Given the description of an element on the screen output the (x, y) to click on. 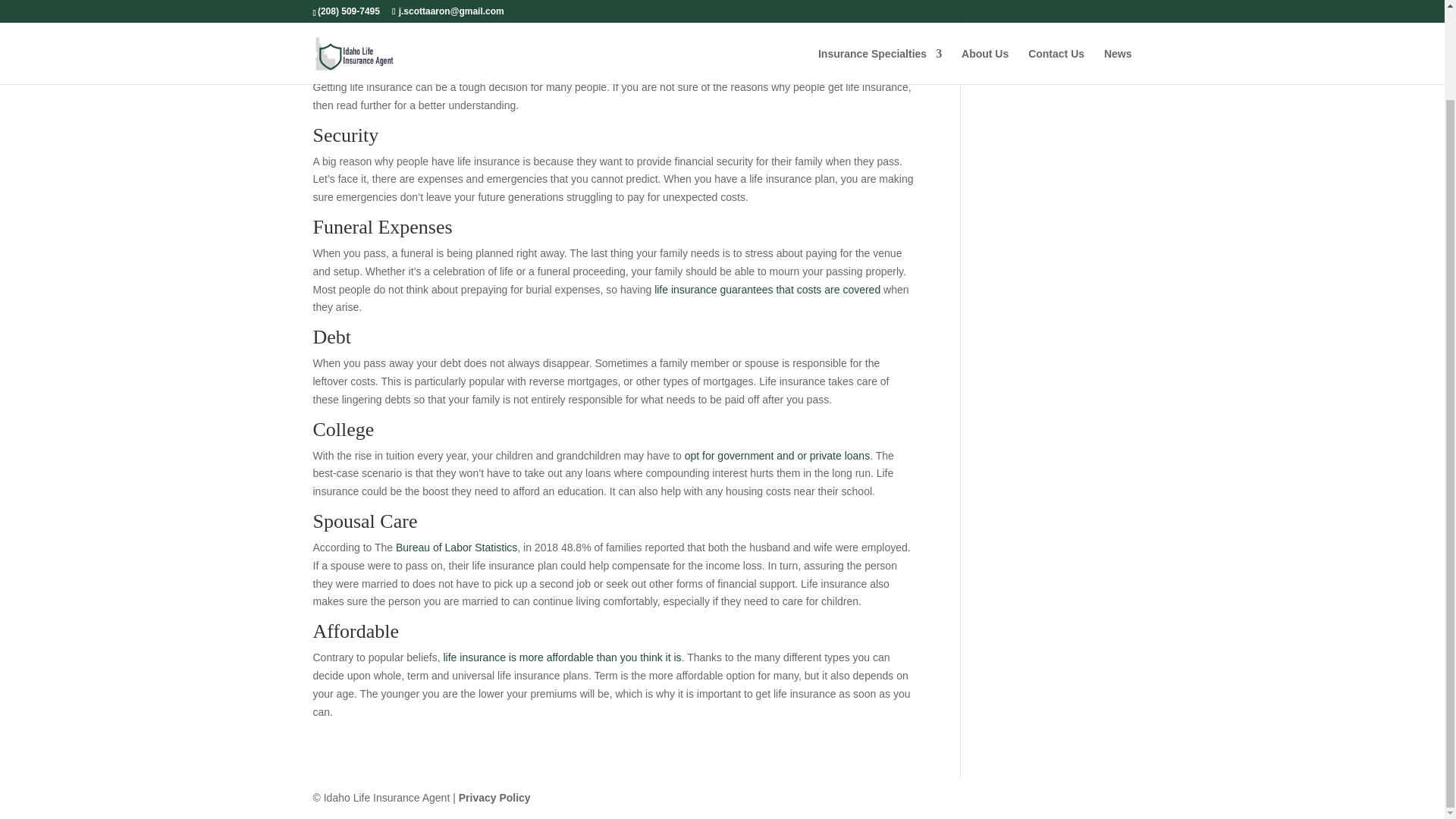
Privacy Policy (494, 797)
Bureau of Labor Statistics (456, 547)
opt for government and or private loans (776, 455)
life insurance is more affordable than you think it is (561, 657)
life insurance guarantees that costs are covered (766, 289)
